Given the description of an element on the screen output the (x, y) to click on. 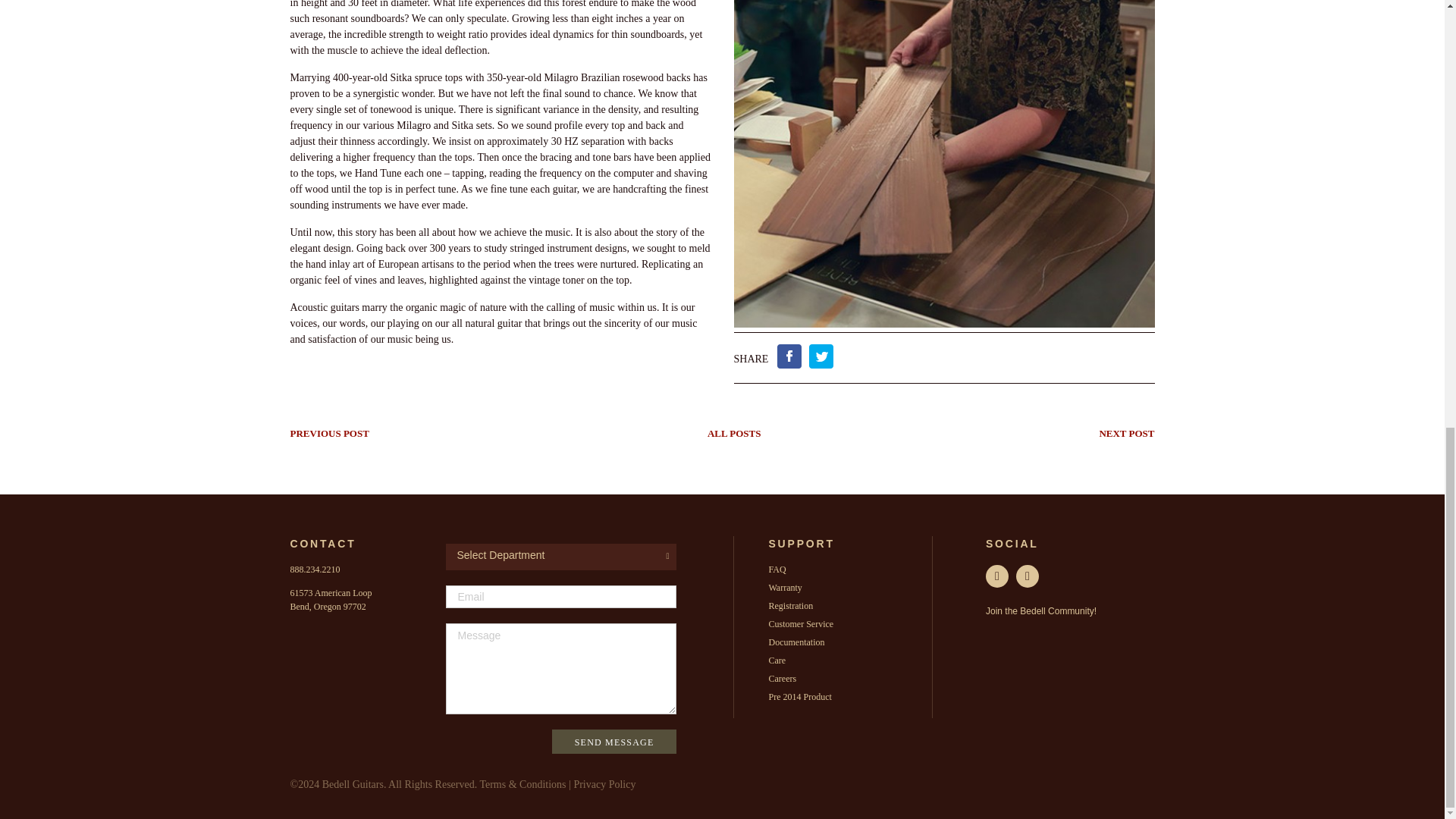
PREVIOUS POST (328, 432)
Warranty (785, 587)
FAQ (777, 569)
888.234.2210 (314, 569)
Documentation (796, 642)
Colorado (327, 606)
ALL POSTS (733, 432)
Care (777, 660)
Registration (790, 605)
Customer Service (800, 624)
